Given the description of an element on the screen output the (x, y) to click on. 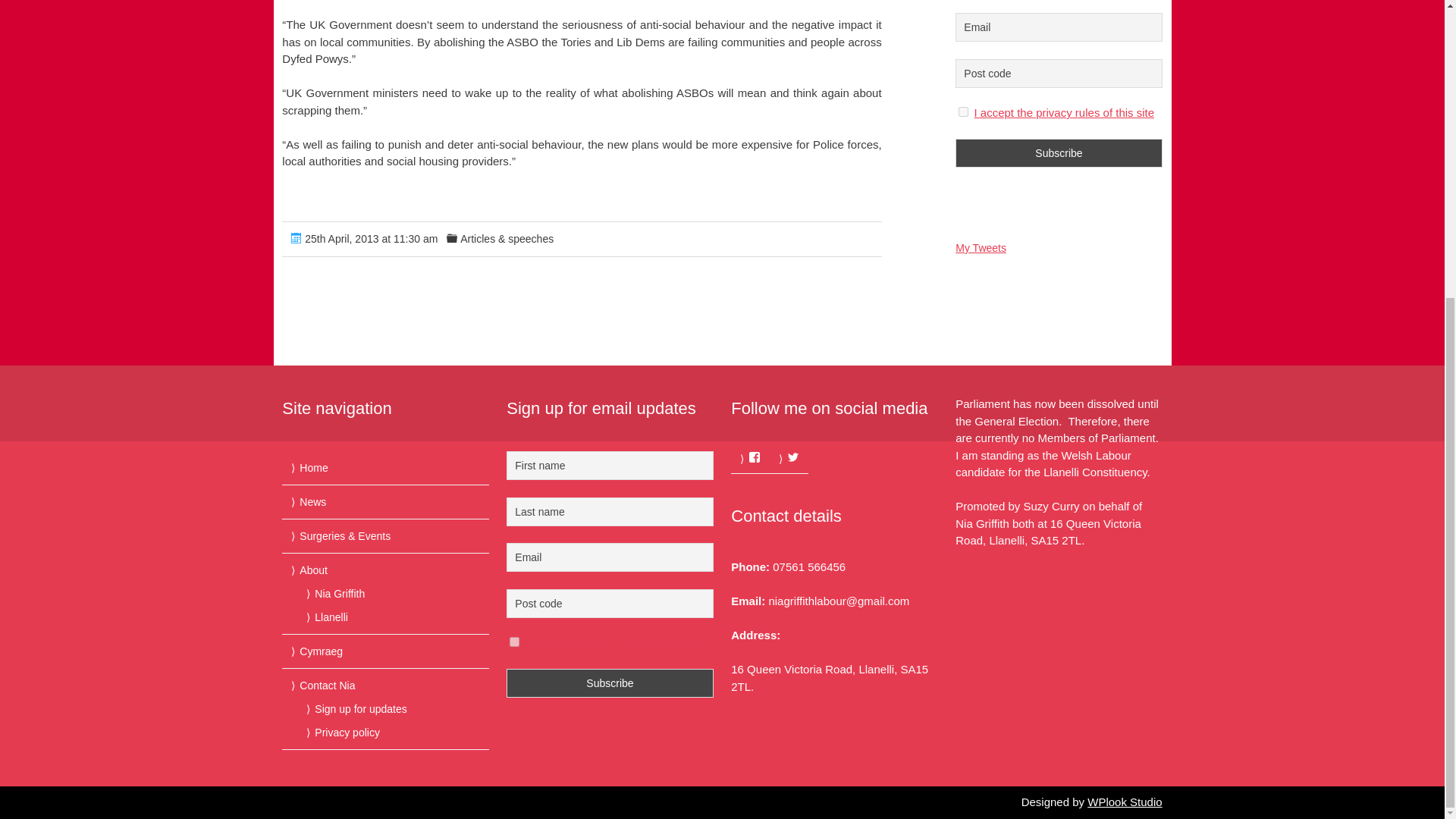
Email (609, 556)
Subscribe (1058, 152)
Cymraeg (320, 651)
Last name (609, 510)
WPlook Studio (1124, 801)
Llanelli (330, 616)
Post code (609, 603)
on (963, 112)
Subscribe (609, 683)
WPlook Studio (1124, 801)
News (312, 501)
Contact Nia (327, 685)
Nia Griffith (339, 593)
I accept the privacy rules of this site (614, 642)
I accept the privacy rules of this site (1064, 112)
